Given the description of an element on the screen output the (x, y) to click on. 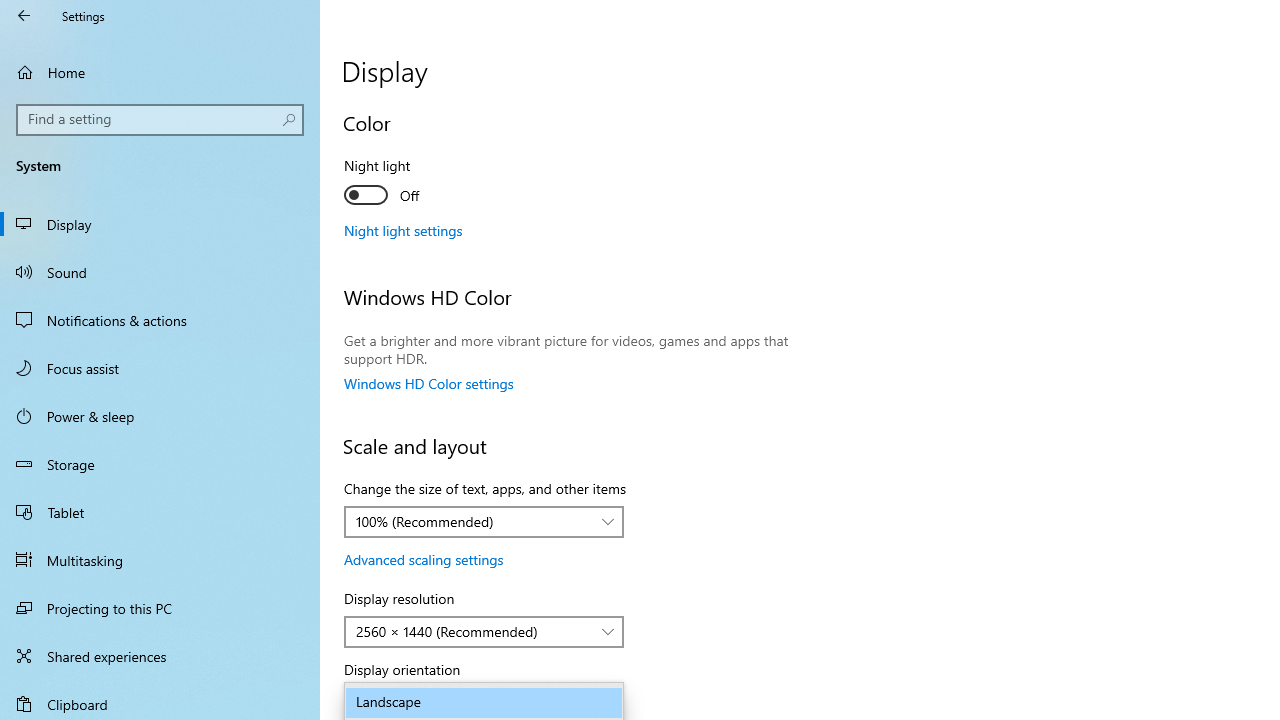
Display orientation (484, 702)
Change the size of text, apps, and other items (484, 521)
Display resolution (484, 632)
Sound (160, 271)
Projecting to this PC (160, 607)
Notifications & actions (160, 319)
Focus assist (160, 367)
Advanced scaling settings (424, 559)
Windows HD Color settings (429, 383)
Night light (417, 183)
Tablet (160, 511)
Storage (160, 463)
Shared experiences (160, 655)
Display (160, 223)
